Given the description of an element on the screen output the (x, y) to click on. 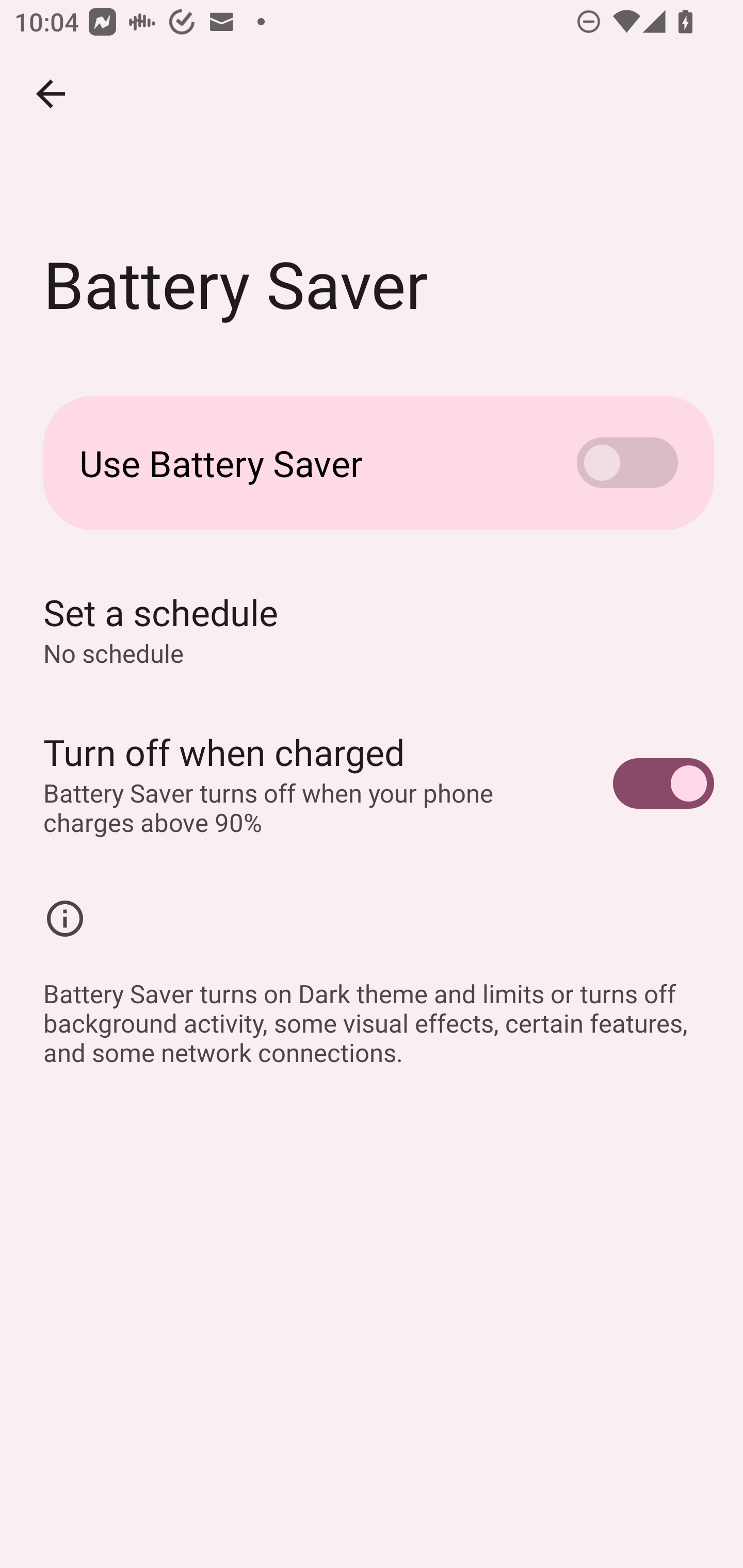
Navigate up (50, 93)
Use Battery Saver (371, 462)
Set a schedule No schedule (371, 629)
